Given the description of an element on the screen output the (x, y) to click on. 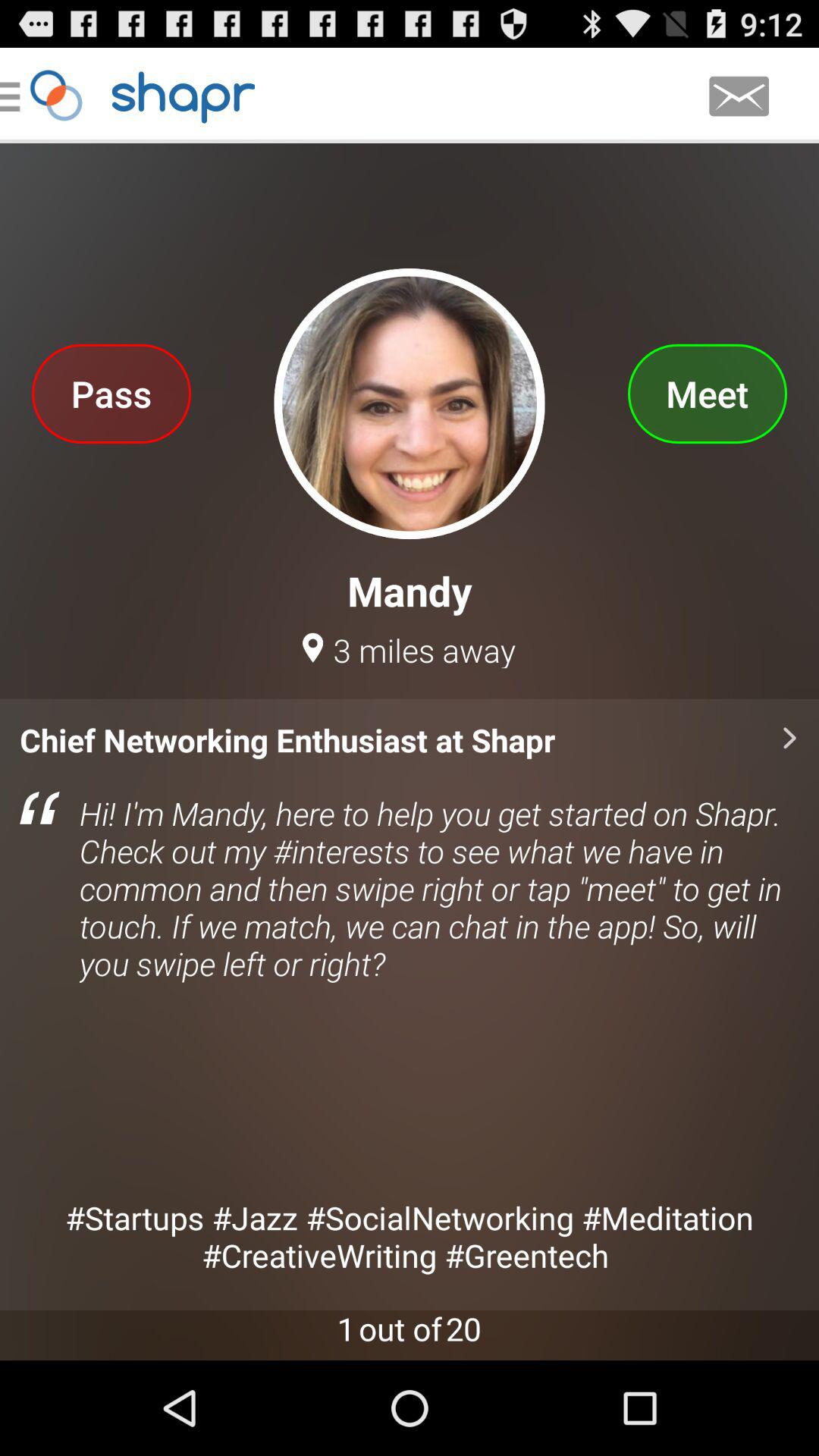
flip to the meet (707, 393)
